Given the description of an element on the screen output the (x, y) to click on. 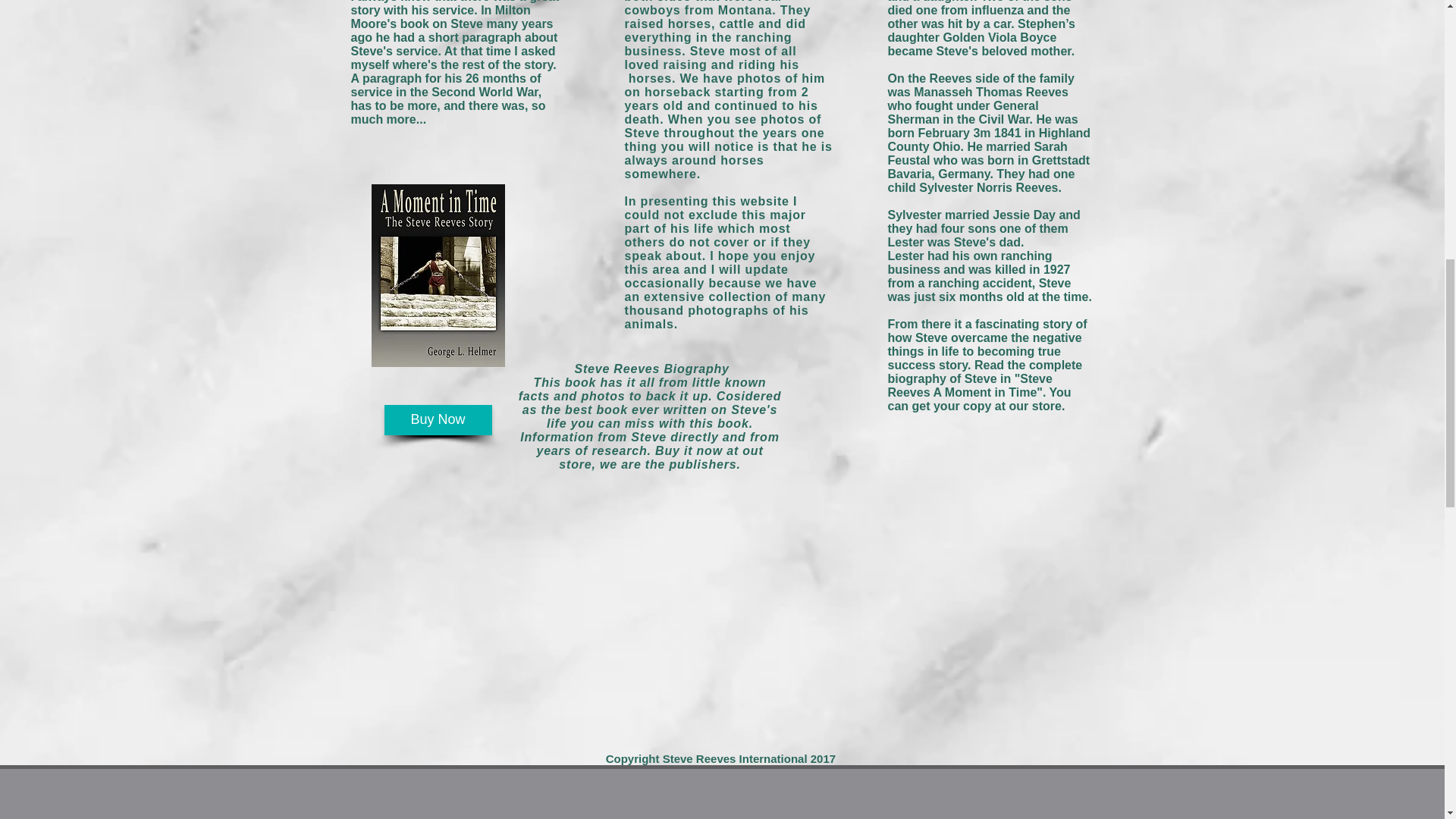
Buy Now (438, 419)
